Given the description of an element on the screen output the (x, y) to click on. 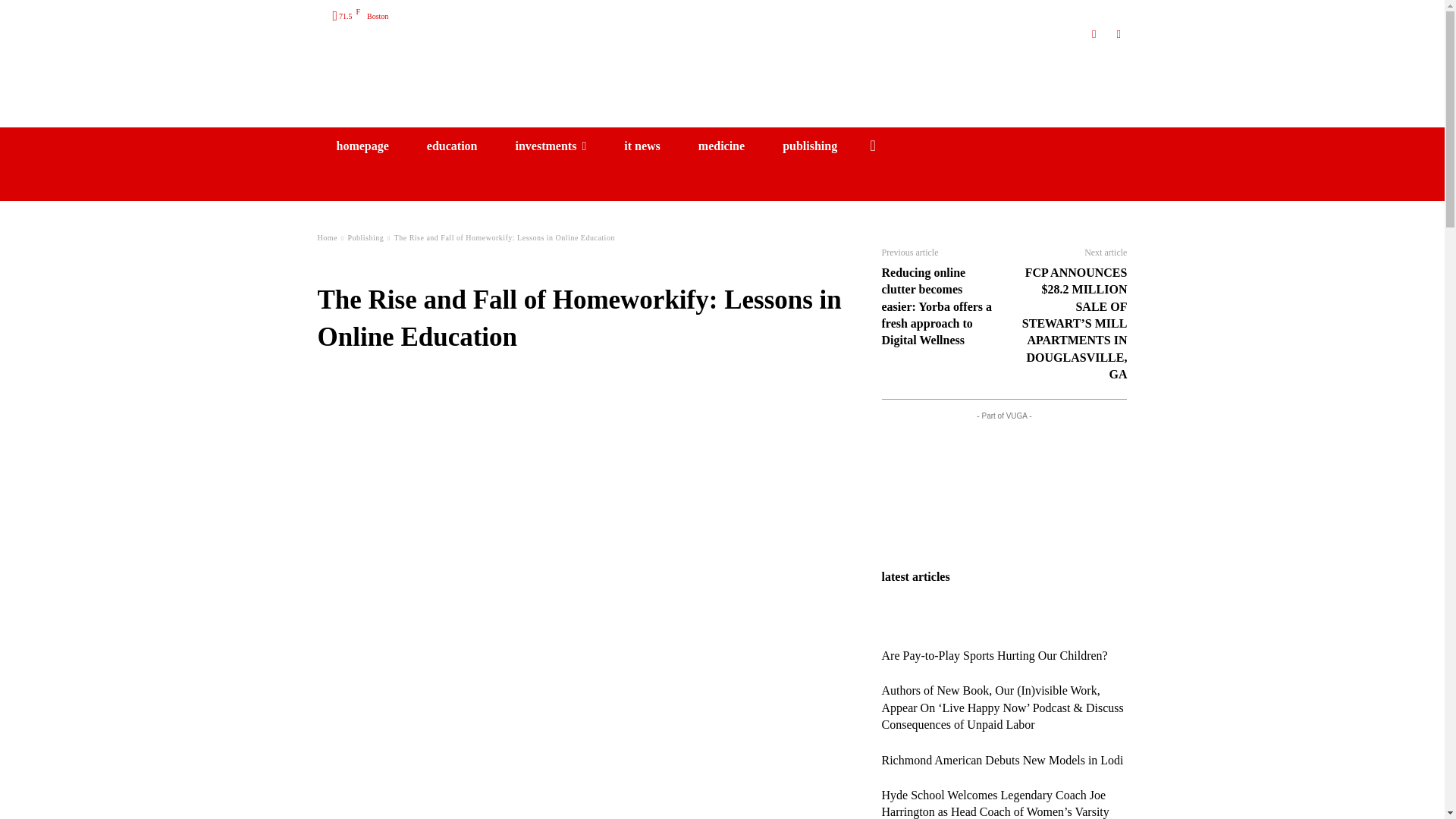
medicine (720, 145)
homepage (362, 145)
investments (550, 145)
Instagram (1094, 34)
Facebook (1117, 34)
it news (642, 145)
Education Fame (721, 88)
education (451, 145)
Education Fame (721, 88)
publishing (809, 145)
